Given the description of an element on the screen output the (x, y) to click on. 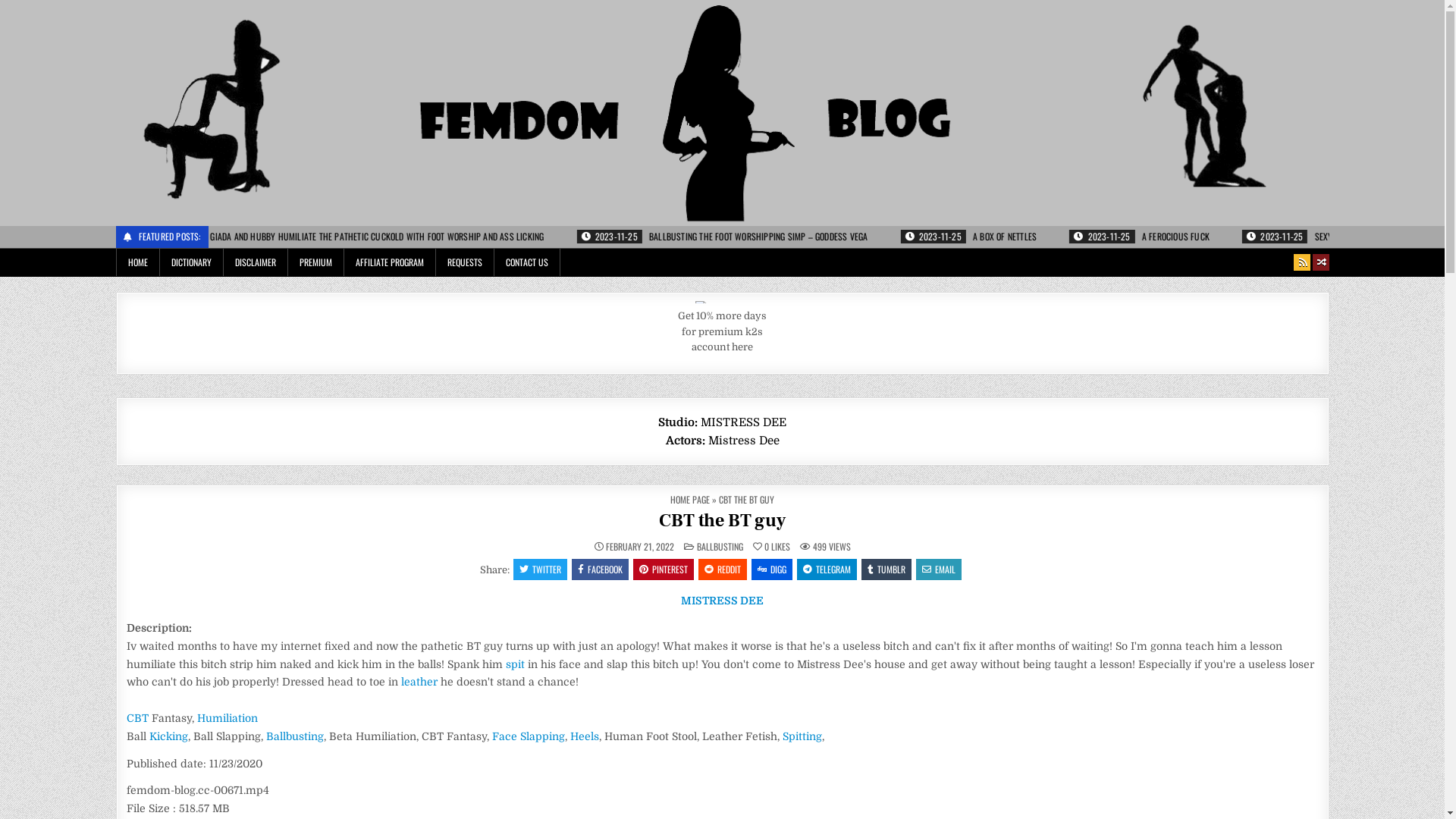
PREMIUM Element type: text (316, 262)
spit Element type: text (514, 664)
MISTRESS DEE Element type: text (721, 600)
0 Element type: text (760, 546)
REQUESTS Element type: text (464, 262)
Spitting Element type: text (802, 736)
BALLBUSTING Element type: text (719, 545)
 2023-11-25 A BOX OF NETTLES Element type: text (1241, 235)
REDDIT Element type: text (722, 569)
DIGG Element type: text (771, 569)
Heels Element type: text (584, 736)
EMAIL Element type: text (938, 569)
TUMBLR Element type: text (886, 569)
 2023-11-25 545 GODDESS KITRA Element type: text (219, 235)
Mistress Dee Element type: text (743, 440)
CBT Element type: text (136, 718)
TWITTER Element type: text (540, 569)
DICTIONARY Element type: text (190, 262)
AFFILIATE PROGRAM Element type: text (390, 262)
Random Post Element type: hover (1321, 261)
FACEBOOK Element type: text (599, 569)
HOME PAGE Element type: text (689, 498)
leather Element type: text (418, 681)
Kicking Element type: text (167, 736)
PINTEREST Element type: text (663, 569)
Humiliation Element type: text (227, 718)
CONTACT US Element type: text (527, 262)
TELEGRAM Element type: text (826, 569)
MISTRESS DEE Element type: text (743, 422)
Ballbusting Element type: text (294, 736)
Face Slapping Element type: text (527, 736)
HOME Element type: text (137, 262)
DISCLAIMER Element type: text (254, 262)
RSS Element type: hover (1302, 261)
